Given the description of an element on the screen output the (x, y) to click on. 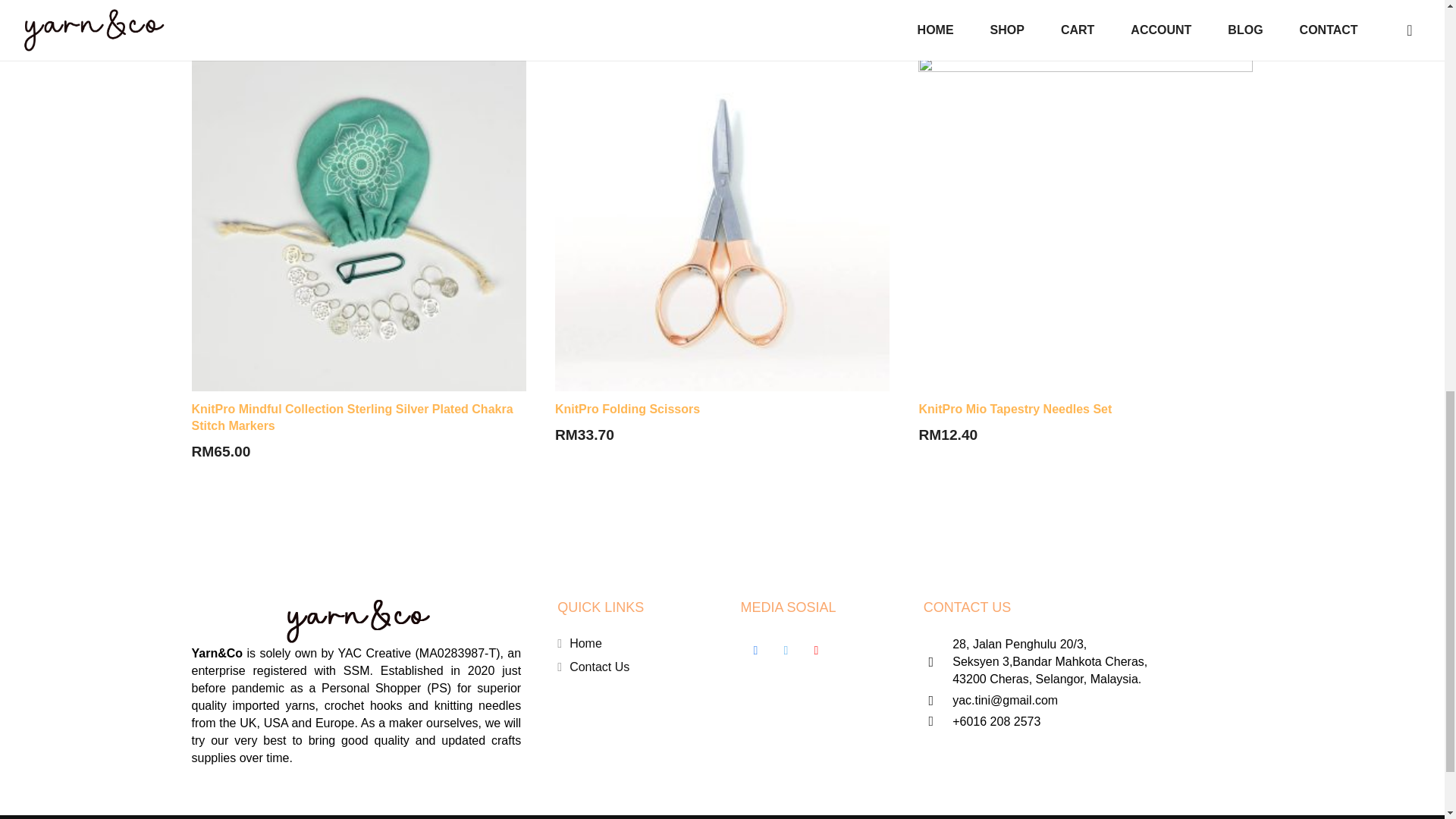
Contact Us (598, 666)
YouTube (815, 650)
Back to top (1413, 30)
Home (585, 643)
Twitter (785, 650)
Facebook (754, 650)
